Given the description of an element on the screen output the (x, y) to click on. 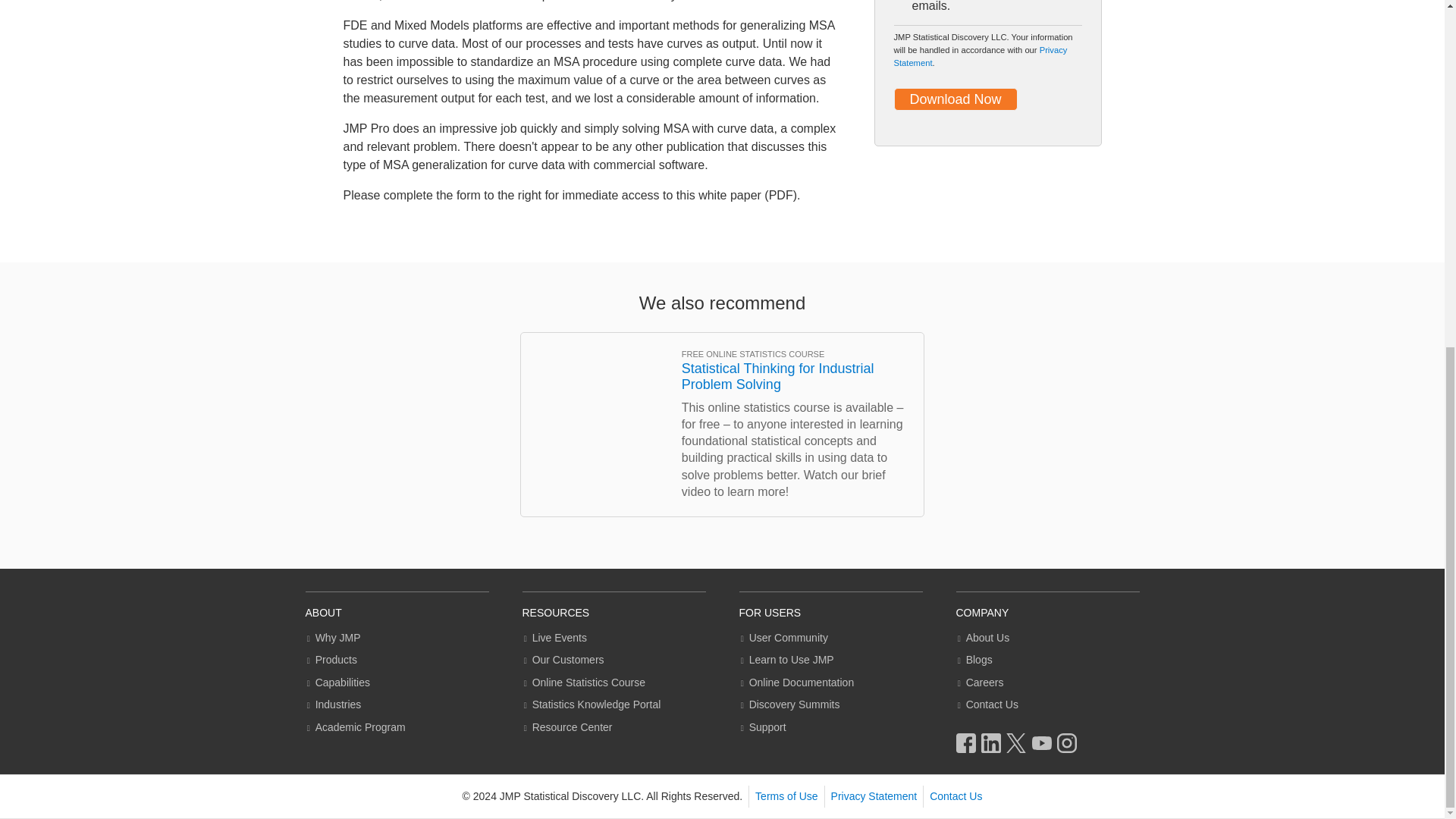
Download Now (954, 98)
